Given the description of an element on the screen output the (x, y) to click on. 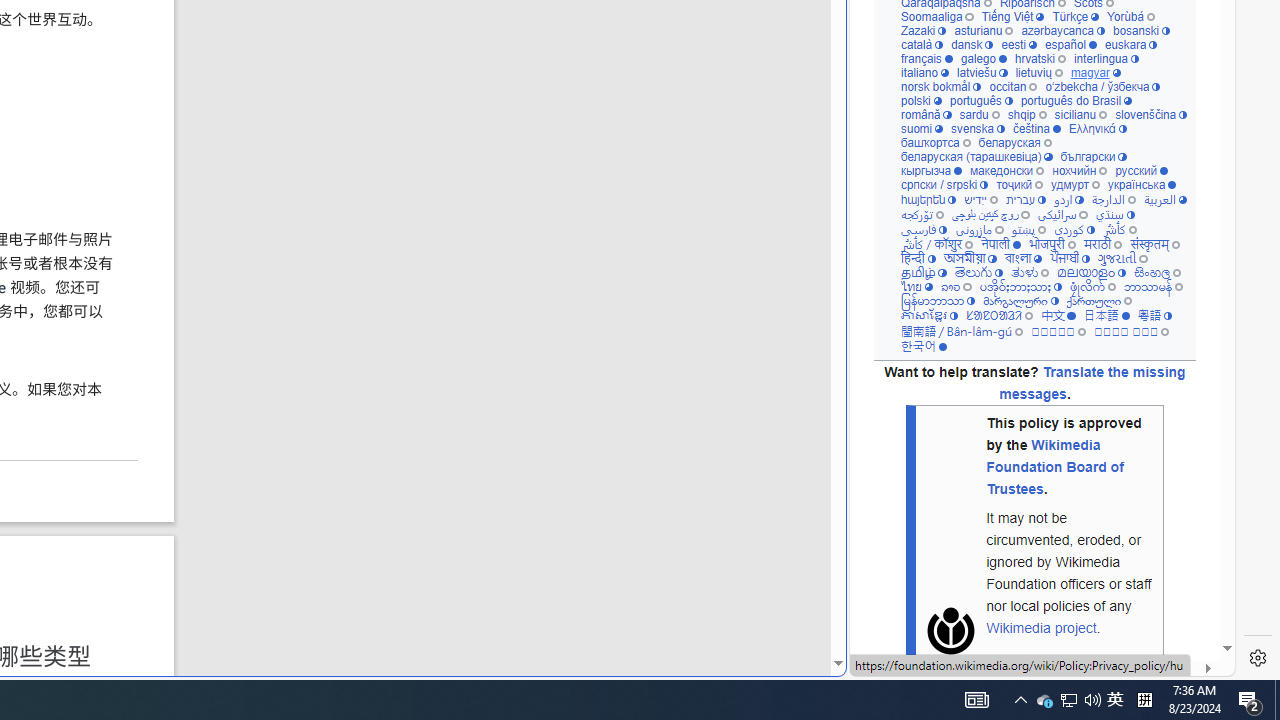
hrvatski (1040, 58)
hrvatski (1040, 58)
